Given the description of an element on the screen output the (x, y) to click on. 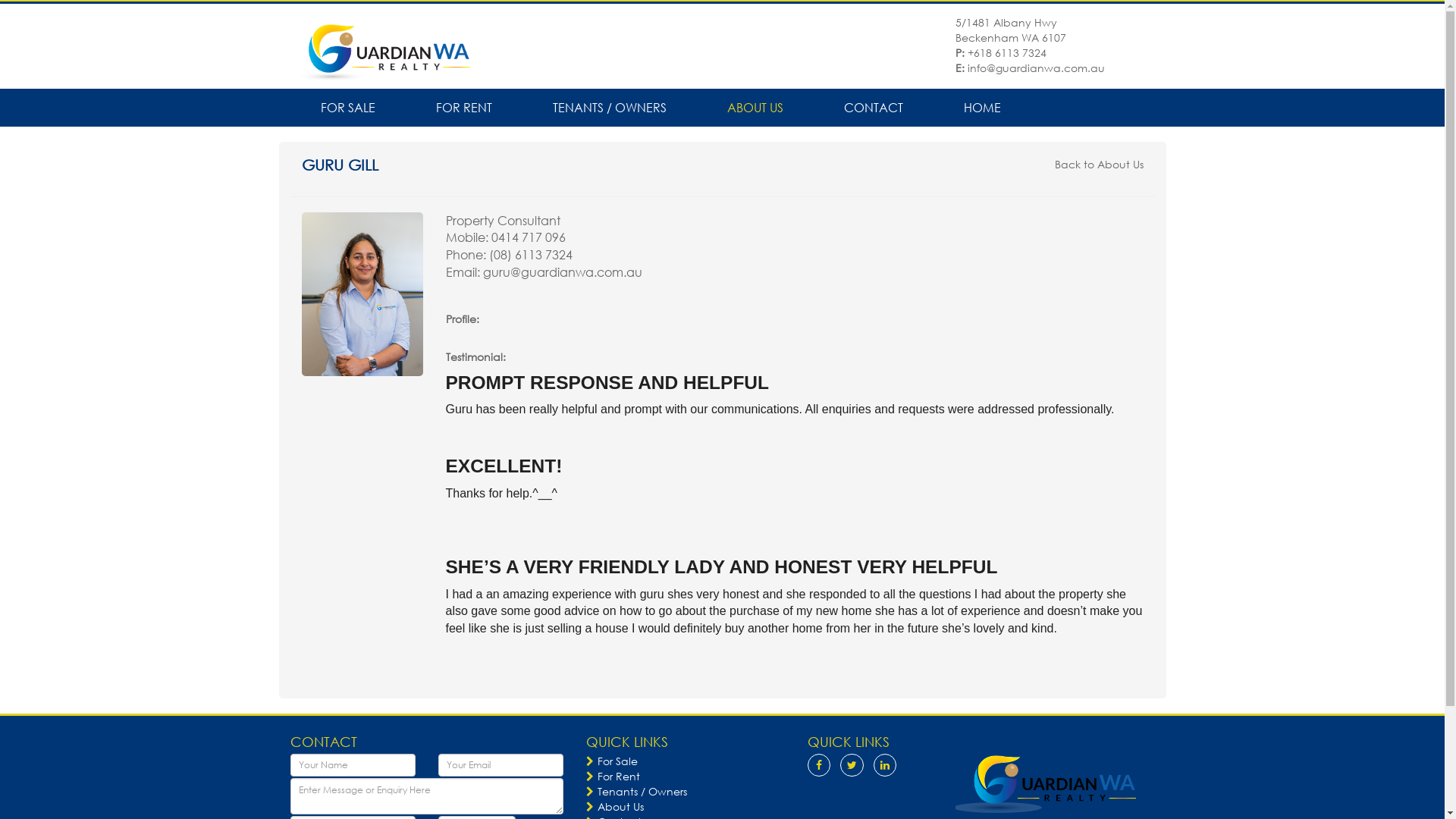
For Sale Element type: text (611, 760)
HOME Element type: text (981, 107)
Tenants / Owners Element type: text (635, 791)
guru@guardianwa.com.au Element type: text (561, 271)
FOR RENT Element type: text (462, 107)
FOR SALE Element type: text (346, 107)
About Us Element type: text (614, 806)
TENANTS / OWNERS Element type: text (608, 107)
CONTACT Element type: text (872, 107)
ABOUT US Element type: text (754, 107)
For Rent Element type: text (612, 775)
Back to About Us Element type: text (1098, 163)
5 stars Element type: hover (794, 541)
info@guardianwa.com.au Element type: text (1035, 67)
